Given the description of an element on the screen output the (x, y) to click on. 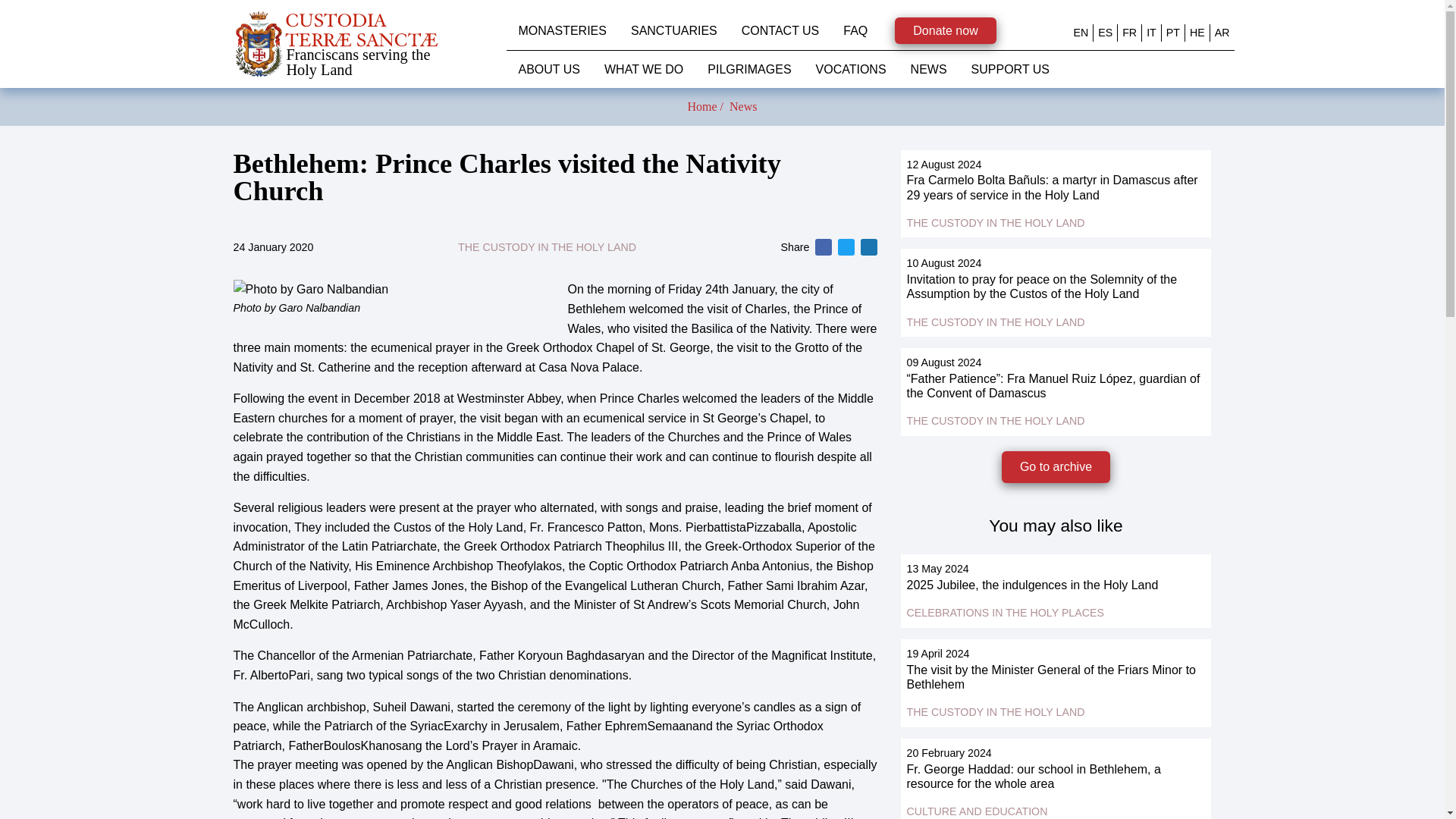
Donate now (945, 30)
SANCTUARIES (673, 30)
MONASTERIES (562, 30)
FAQ (855, 30)
EN (1080, 32)
CONTACT US (780, 30)
ES (1104, 32)
FR (1129, 32)
Franciscans serving the Holy Land (369, 43)
Donate now (944, 30)
